Given the description of an element on the screen output the (x, y) to click on. 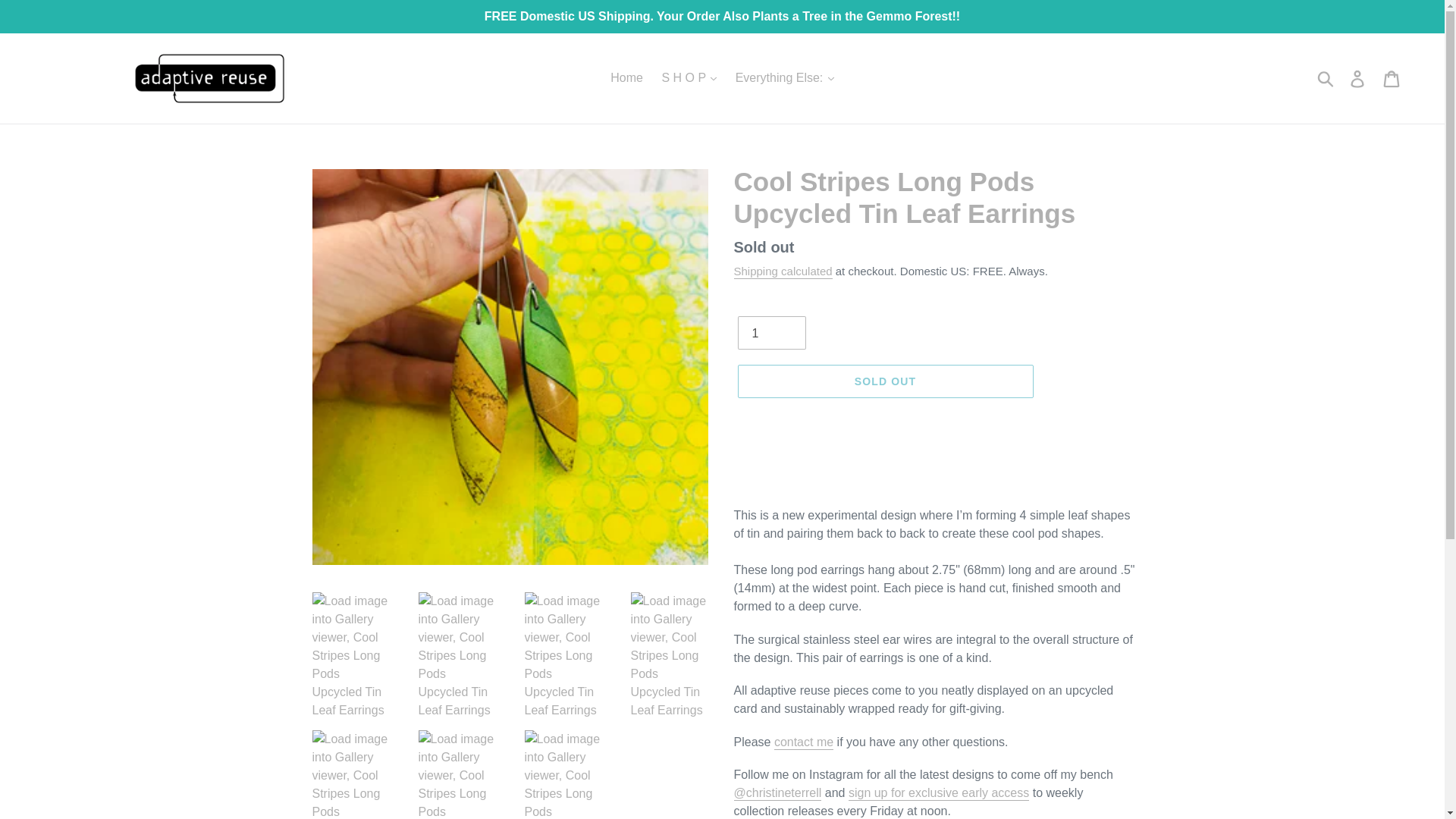
1 (770, 332)
Log in (1357, 78)
Home (626, 77)
Cart (1392, 78)
Submit (1326, 78)
